Given the description of an element on the screen output the (x, y) to click on. 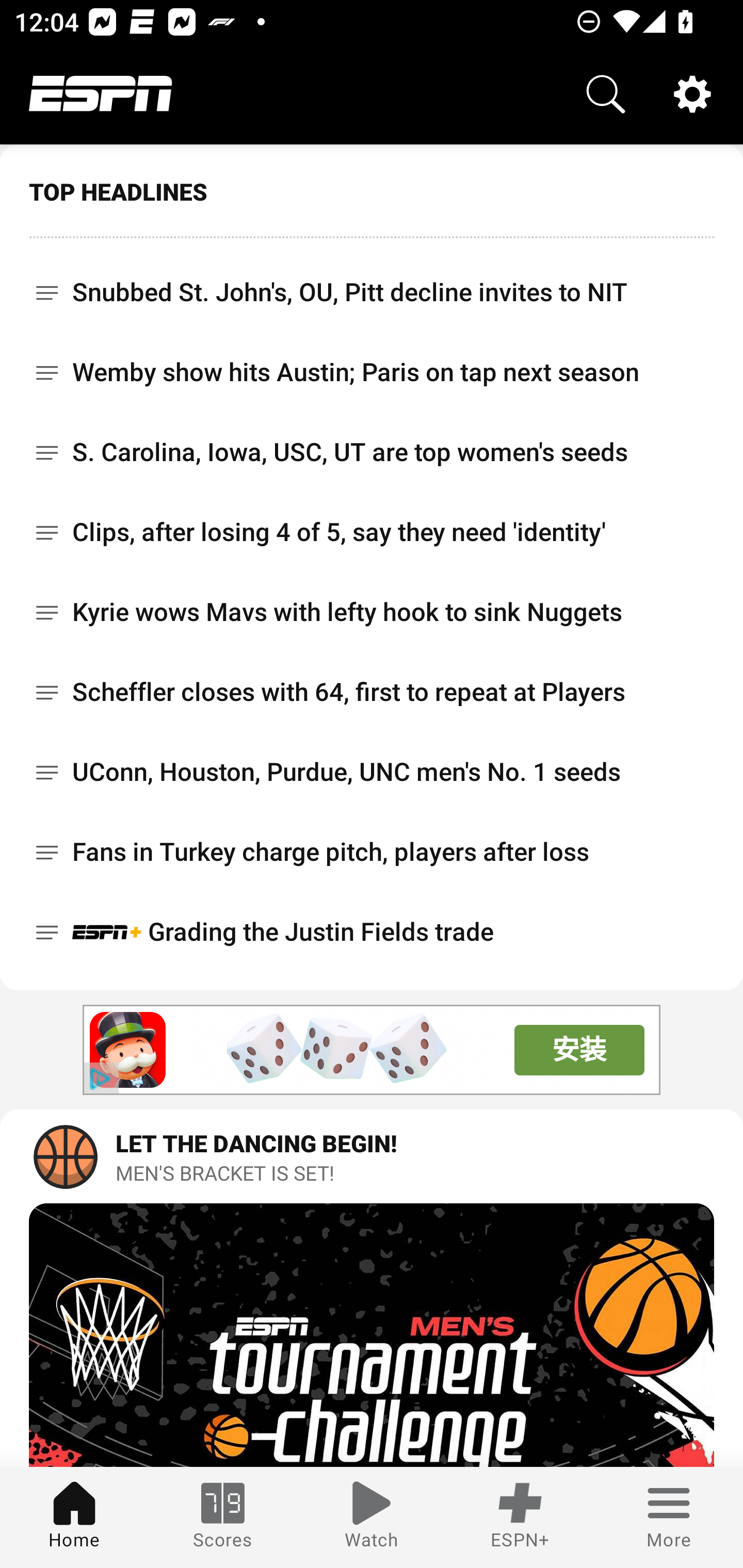
Search (605, 93)
Settings (692, 93)
 Wemby show hits Austin; Paris on tap next season (371, 372)
 S. Carolina, Iowa, USC, UT are top women's seeds (371, 452)
 Kyrie wows Mavs with lefty hook to sink Nuggets (371, 612)
 UConn, Houston, Purdue, UNC men's No. 1 seeds (371, 772)
 Fans in Turkey charge pitch, players after loss (371, 852)
90ddee7bfe49407238cd (128, 1050)
安装 (578, 1049)
Scores (222, 1517)
Watch (371, 1517)
ESPN+ (519, 1517)
More (668, 1517)
